Given the description of an element on the screen output the (x, y) to click on. 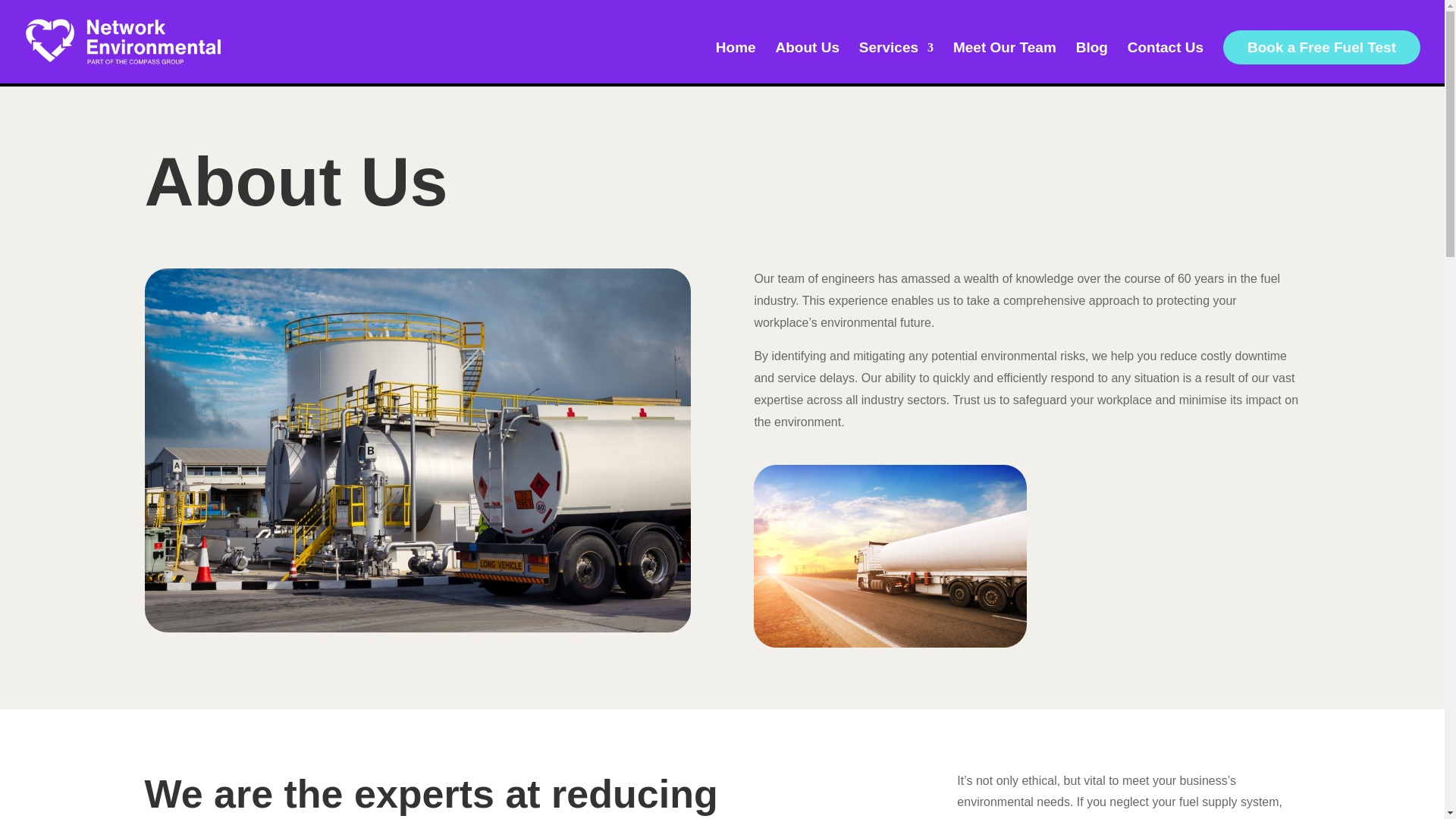
Services (896, 62)
Contact Us (1165, 62)
Book a Free Fuel Test (1322, 47)
Home (735, 62)
Meet Our Team (1005, 62)
About Us (808, 62)
fuel supply (890, 556)
